Given the description of an element on the screen output the (x, y) to click on. 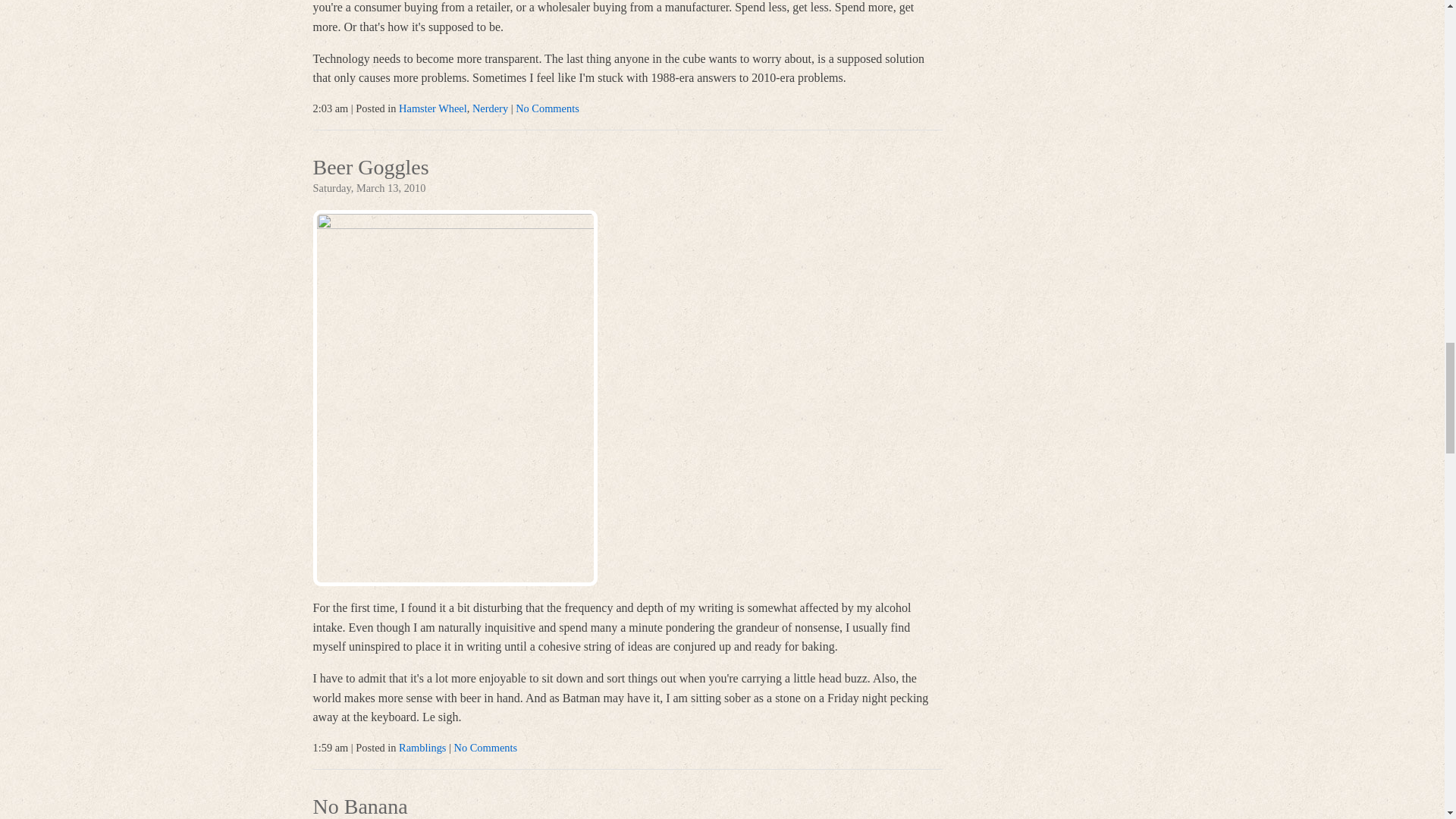
Ramblings (421, 747)
Hamster Wheel (432, 108)
Nerdery (489, 108)
No Comments (486, 747)
No Comments (547, 108)
Beer Goggles (370, 168)
No Banana (360, 806)
